Given the description of an element on the screen output the (x, y) to click on. 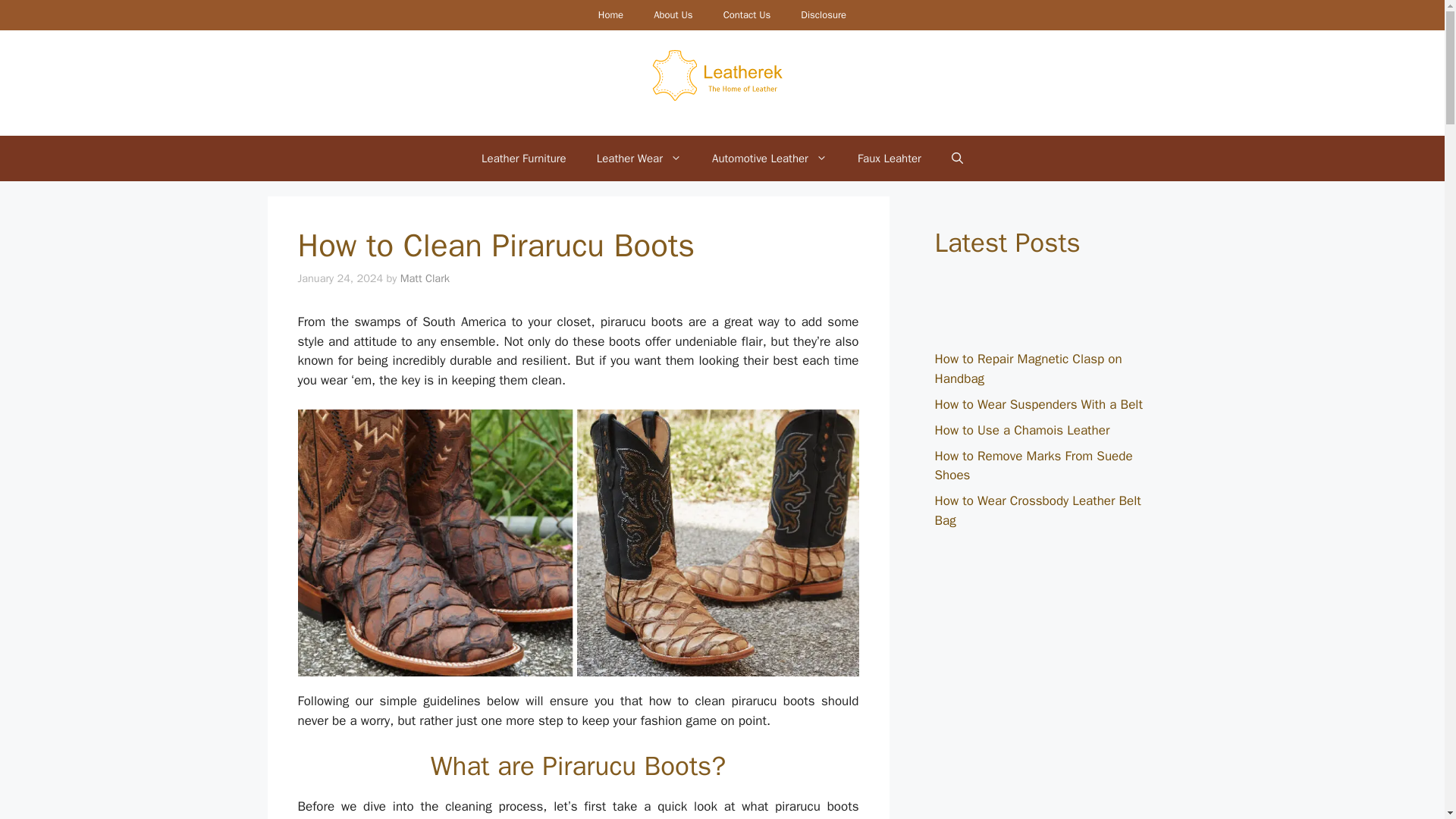
Leather Wear (638, 157)
Home (611, 15)
Matt Clark (424, 278)
Disclosure (823, 15)
How to Wear Crossbody Leather Belt Bag (1037, 510)
Contact Us (746, 15)
View all posts by Matt Clark (424, 278)
How to Wear Suspenders With a Belt (1037, 403)
How to Repair Magnetic Clasp on Handbag (1027, 368)
How to Remove Marks From Suede Shoes (1033, 465)
